Given the description of an element on the screen output the (x, y) to click on. 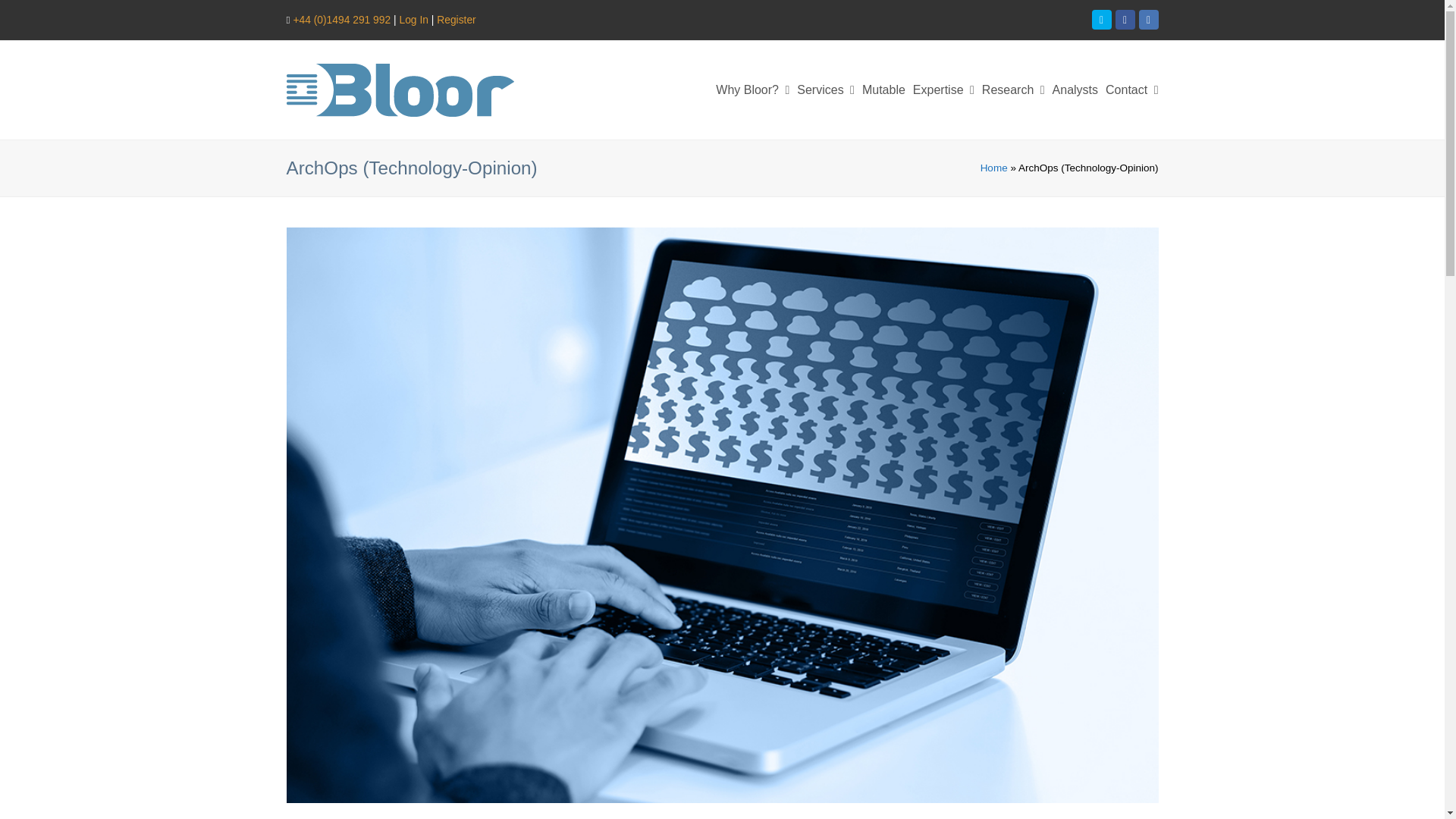
Register (456, 19)
Log In (413, 19)
Log In (413, 19)
Twitter (1102, 19)
LinkedIn (1148, 19)
Facebook (1124, 19)
LinkedIn (1148, 19)
Register (456, 19)
Mutable (883, 89)
Facebook (1124, 19)
Expertise (943, 89)
Twitter (1102, 19)
Why Bloor? (752, 89)
Services (826, 89)
